Given the description of an element on the screen output the (x, y) to click on. 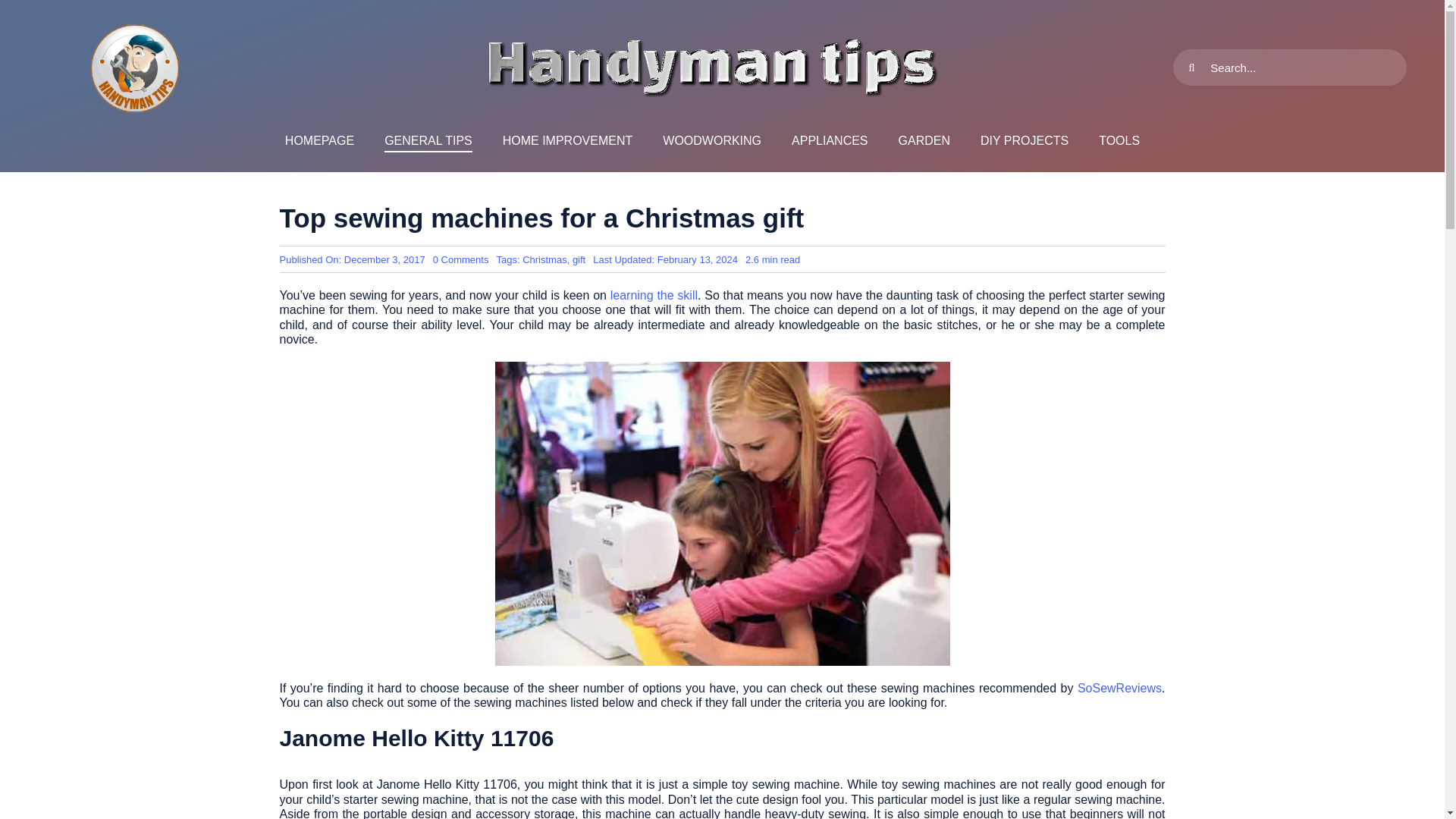
HOMEPAGE (319, 141)
SoSewReviews (1119, 687)
learning the skill (653, 295)
DIY PROJECTS (1023, 141)
handyman tips text (711, 67)
HOME IMPROVEMENT (460, 259)
WOODWORKING (567, 141)
Handyman tips logo trans (711, 141)
gift (134, 67)
TOOLS (578, 259)
GARDEN (1119, 141)
Christmas (924, 141)
GENERAL TIPS (544, 259)
APPLIANCES (427, 141)
